Given the description of an element on the screen output the (x, y) to click on. 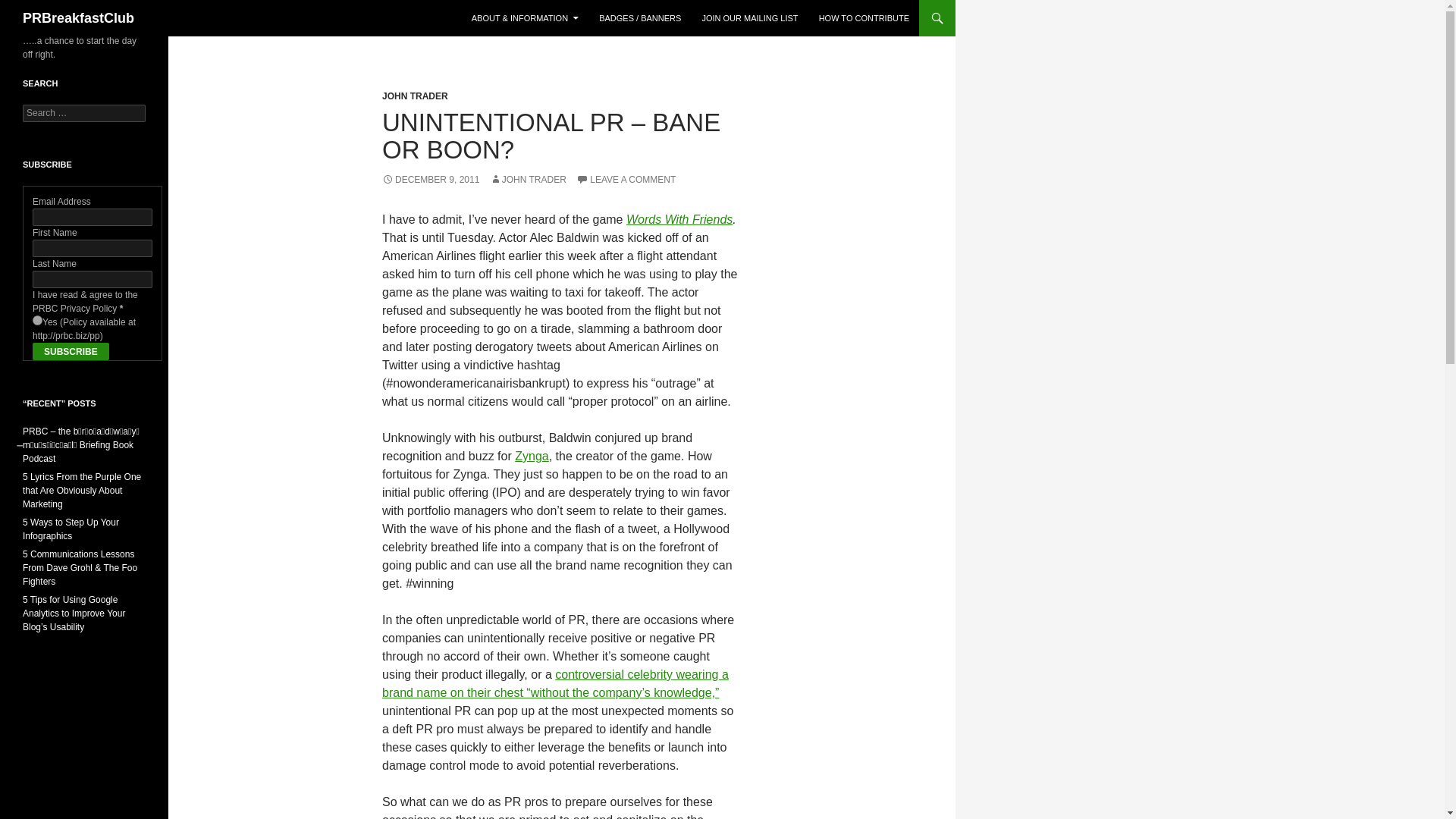
HOW TO CONTRIBUTE (863, 18)
Words With Friends (679, 219)
Search (30, 8)
Subscribe (70, 351)
DECEMBER 9, 2011 (430, 179)
JOIN OUR MAILING LIST (749, 18)
JOHN TRADER (527, 179)
JOHN TRADER (414, 95)
Zynga (531, 455)
PRBreakfastClub (78, 17)
LEAVE A COMMENT (625, 179)
Subscribe (70, 351)
